Given the description of an element on the screen output the (x, y) to click on. 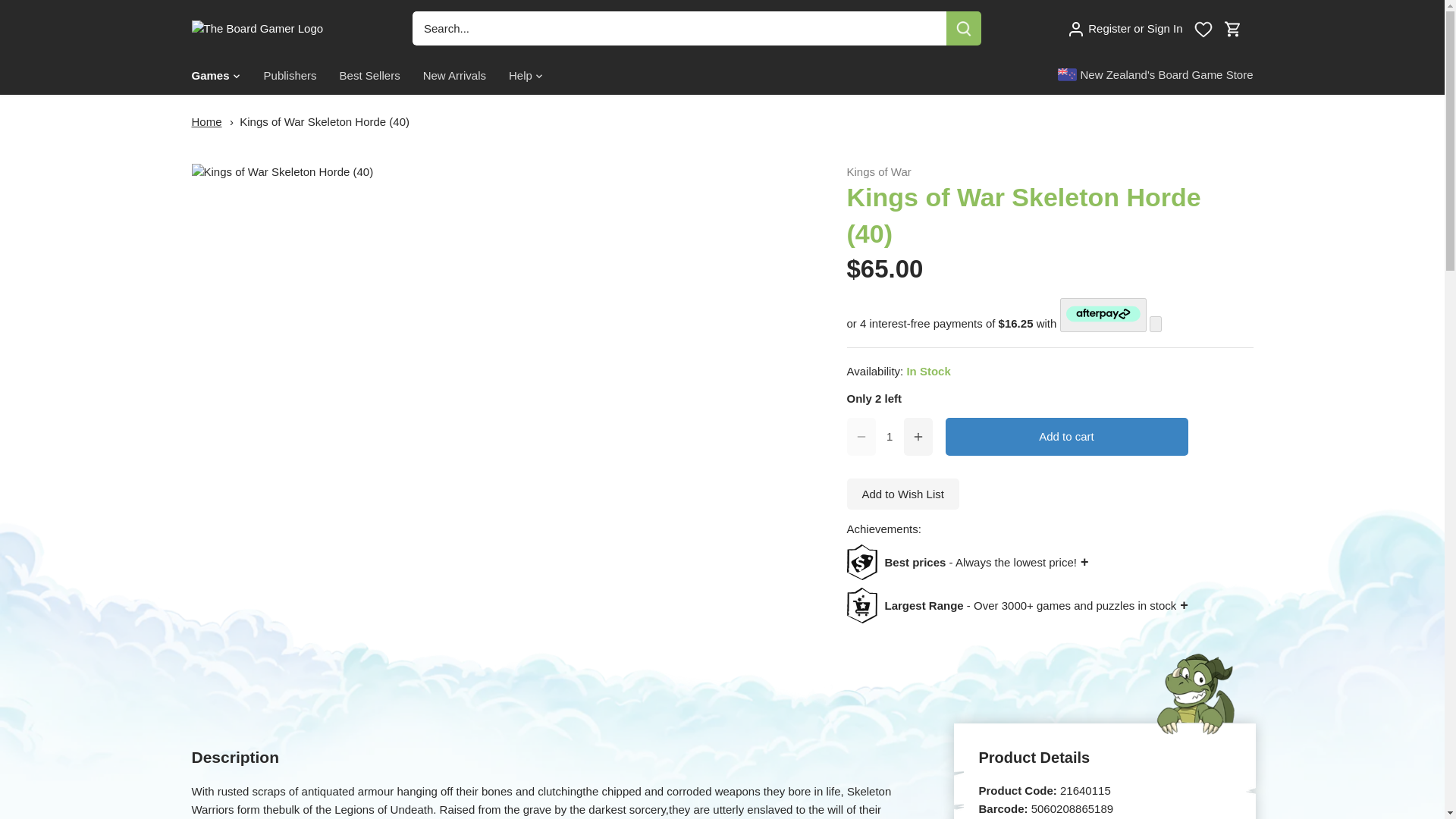
Best Sellers (370, 75)
Register or Sign In (1124, 28)
Add to Wish List (901, 493)
Kings of War (878, 171)
Games (215, 75)
Publishers (290, 75)
Help (520, 75)
Home (205, 121)
Home (205, 121)
Add to cart (1066, 436)
New Arrivals (454, 75)
